Given the description of an element on the screen output the (x, y) to click on. 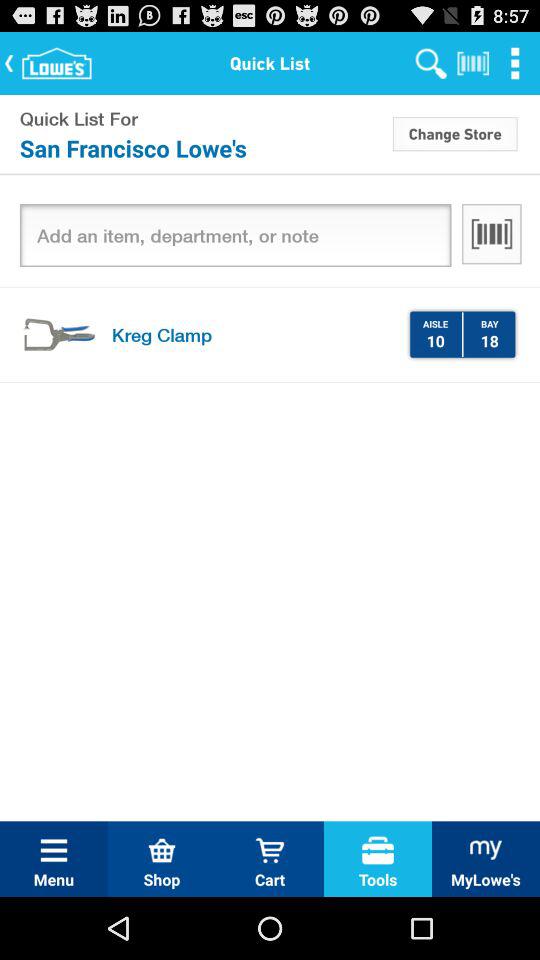
press icon next to the kreg clamp icon (435, 340)
